Given the description of an element on the screen output the (x, y) to click on. 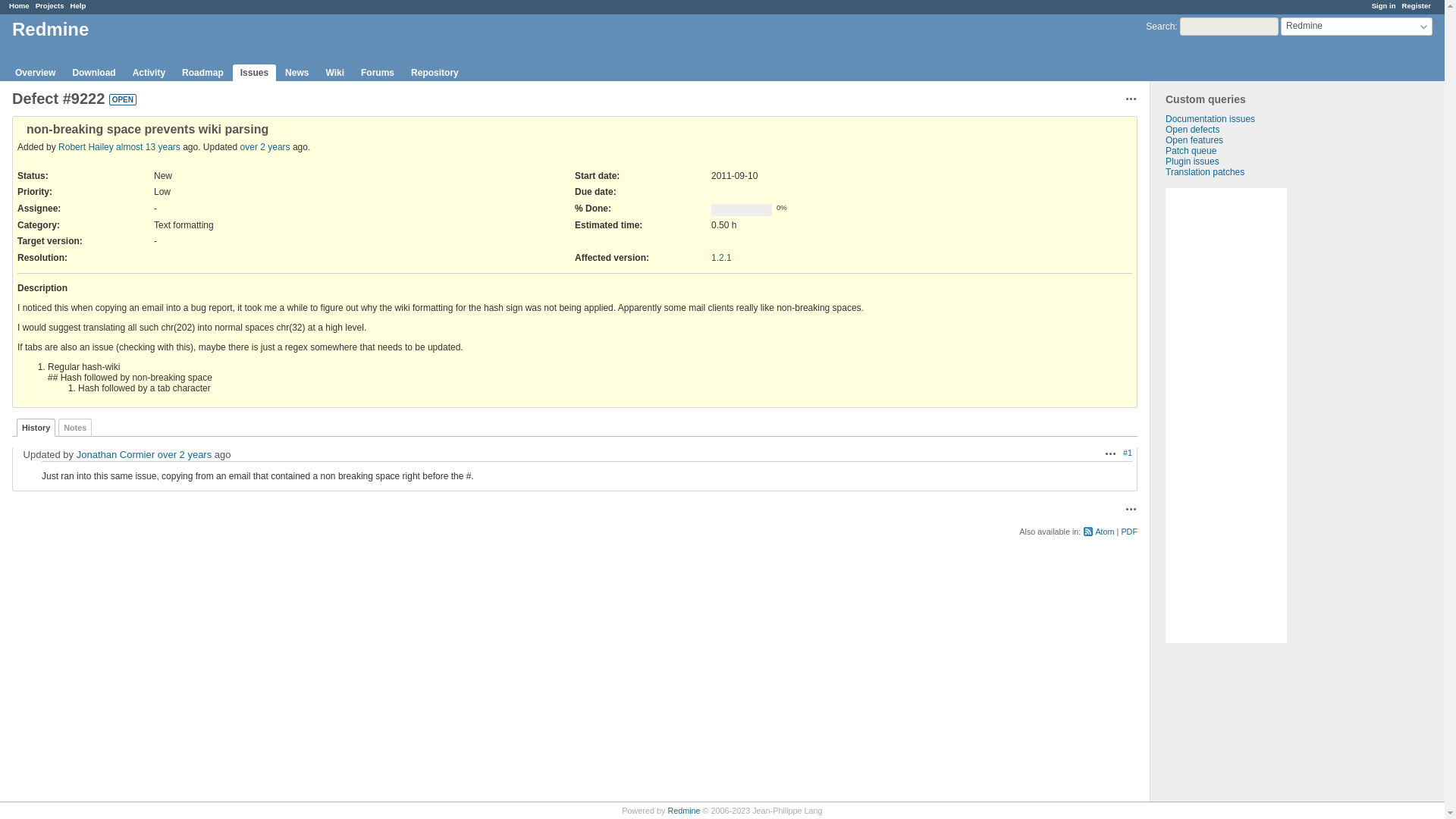
Register (1416, 5)
Help (77, 5)
Open features (1194, 140)
Overview (34, 72)
Plugin issues (1193, 161)
History (35, 427)
Robert Hailey (85, 146)
Activity (149, 72)
Download (93, 72)
Repository (434, 72)
2022-01-06 21:54 (264, 146)
Sign in (1383, 5)
Jonathan Cormier (115, 454)
Patch queue (1190, 150)
Atom (1098, 531)
